Given the description of an element on the screen output the (x, y) to click on. 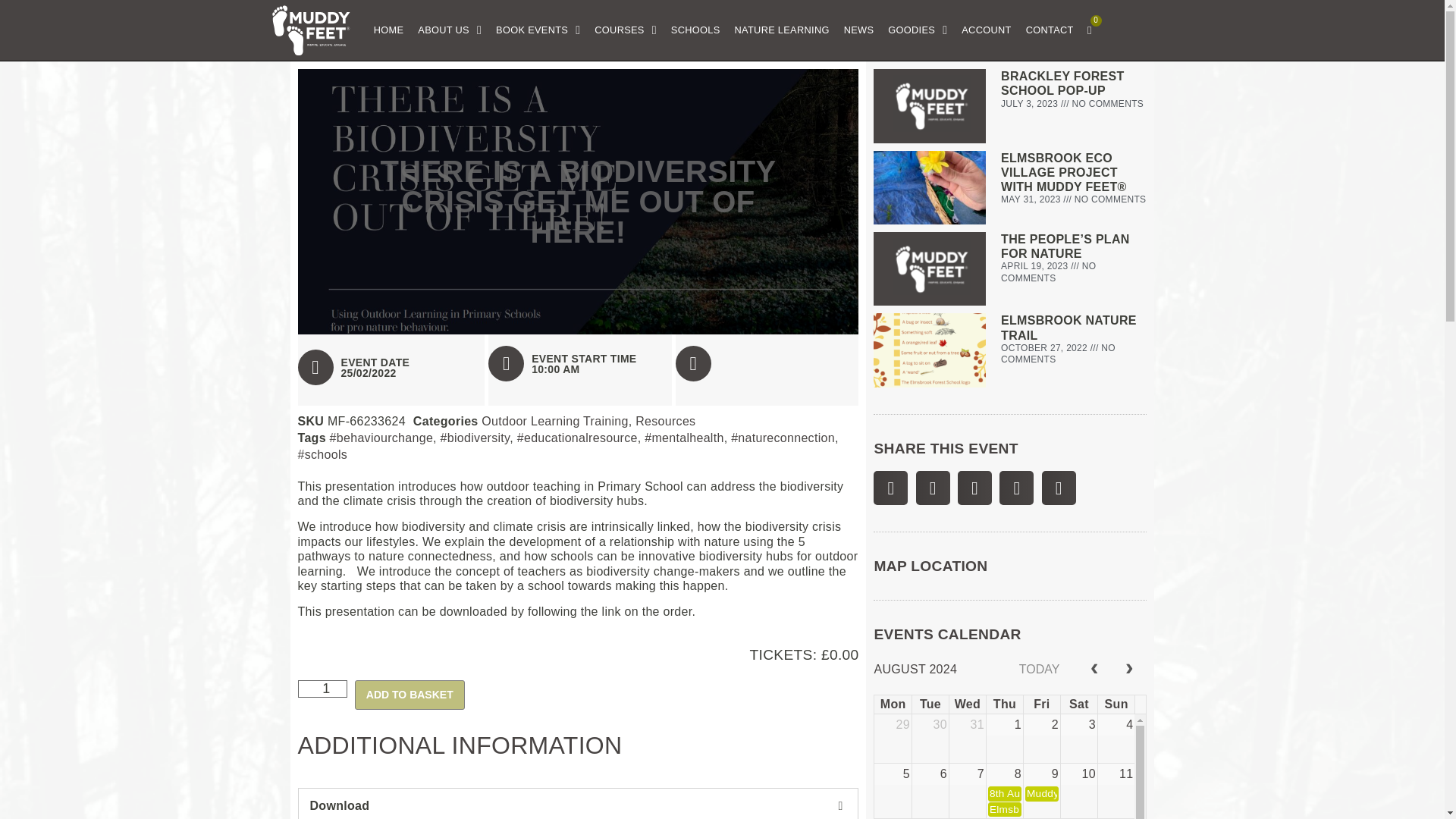
CONTACT (1050, 29)
COURSES (625, 29)
HOME (389, 29)
NEWS (859, 29)
GOODIES (917, 29)
BOOK EVENTS (537, 29)
ABOUT US (449, 29)
SCHOOLS (695, 29)
NATURE LEARNING (782, 29)
1 (321, 688)
